Given the description of an element on the screen output the (x, y) to click on. 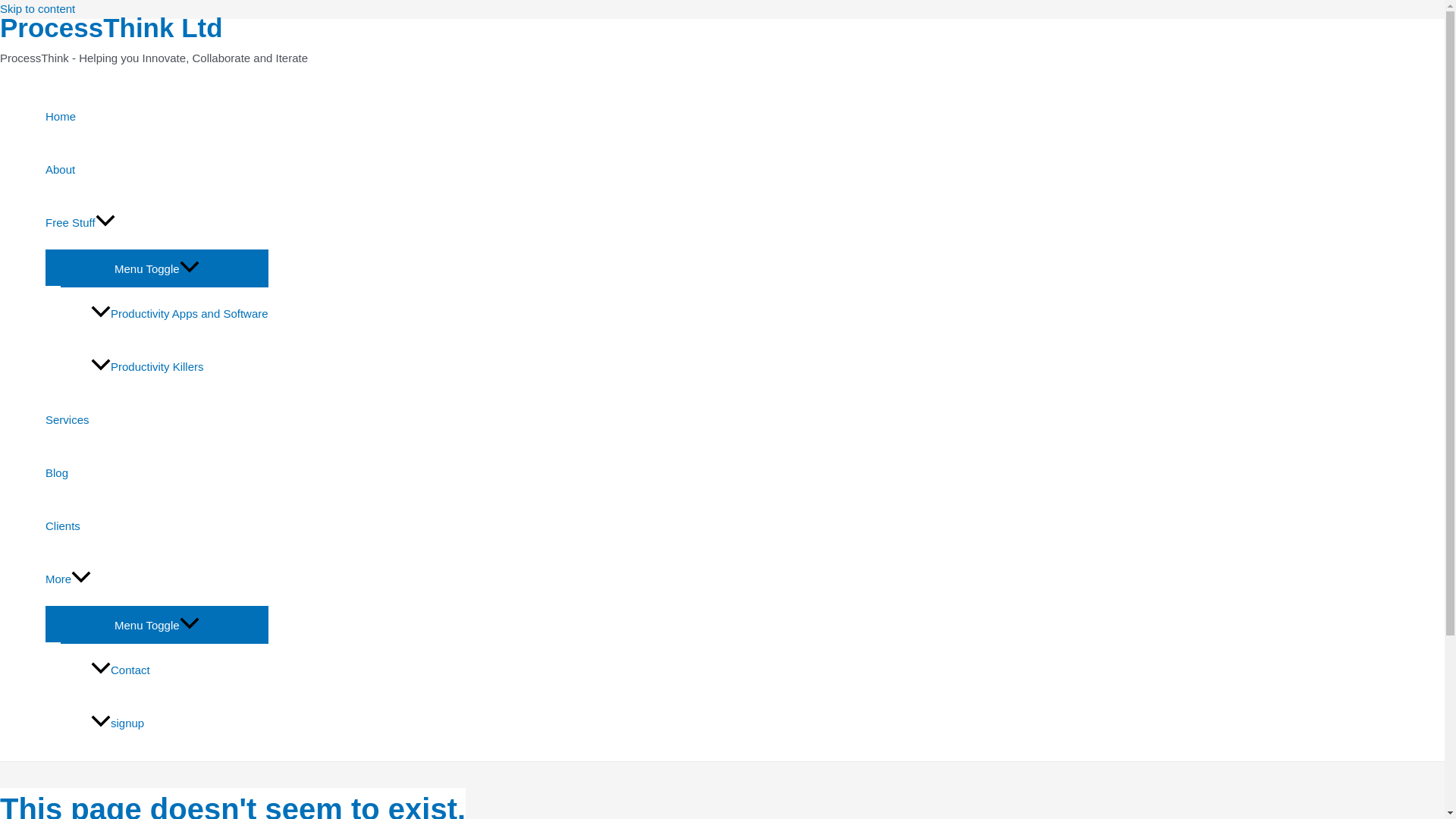
Menu Toggle (156, 624)
signup (178, 723)
About (156, 169)
Productivity Killers (178, 366)
Free Stuff (156, 222)
Skip to content (37, 8)
ProcessThink Ltd (111, 27)
Productivity Apps and Software (178, 313)
Clients (156, 525)
Blog (156, 472)
More (156, 579)
Skip to content (37, 8)
Services (156, 419)
Home (156, 116)
Contact (178, 669)
